Given the description of an element on the screen output the (x, y) to click on. 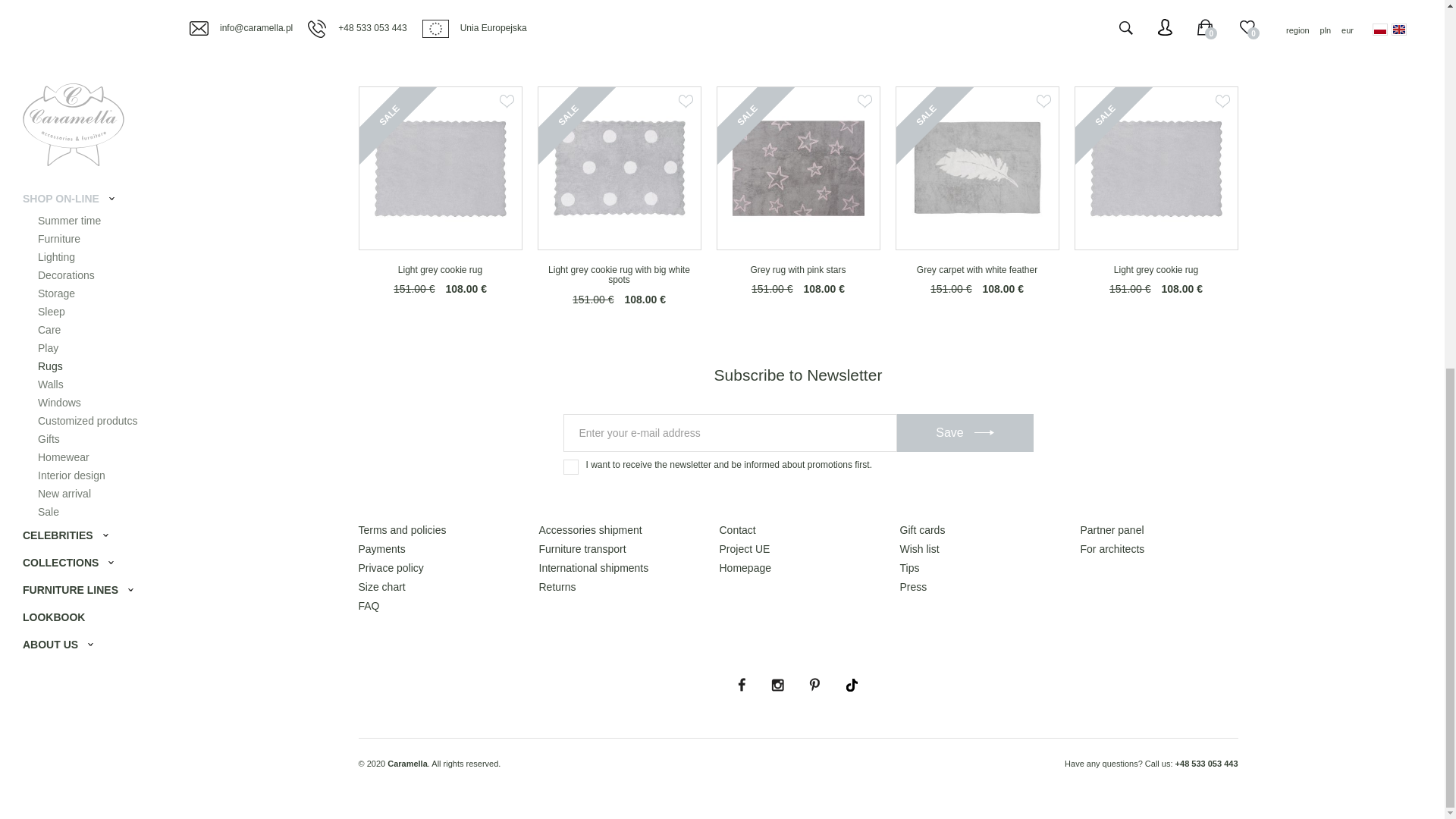
Add to bag (619, 264)
Dodaj do ulubionych (863, 101)
Add to bag (977, 264)
Dodaj do ulubionych (685, 101)
Add to bag (440, 264)
Add to bag (1156, 264)
Dodaj do ulubionych (506, 101)
Dodaj do ulubionych (1042, 101)
Add to bag (798, 264)
